Given the description of an element on the screen output the (x, y) to click on. 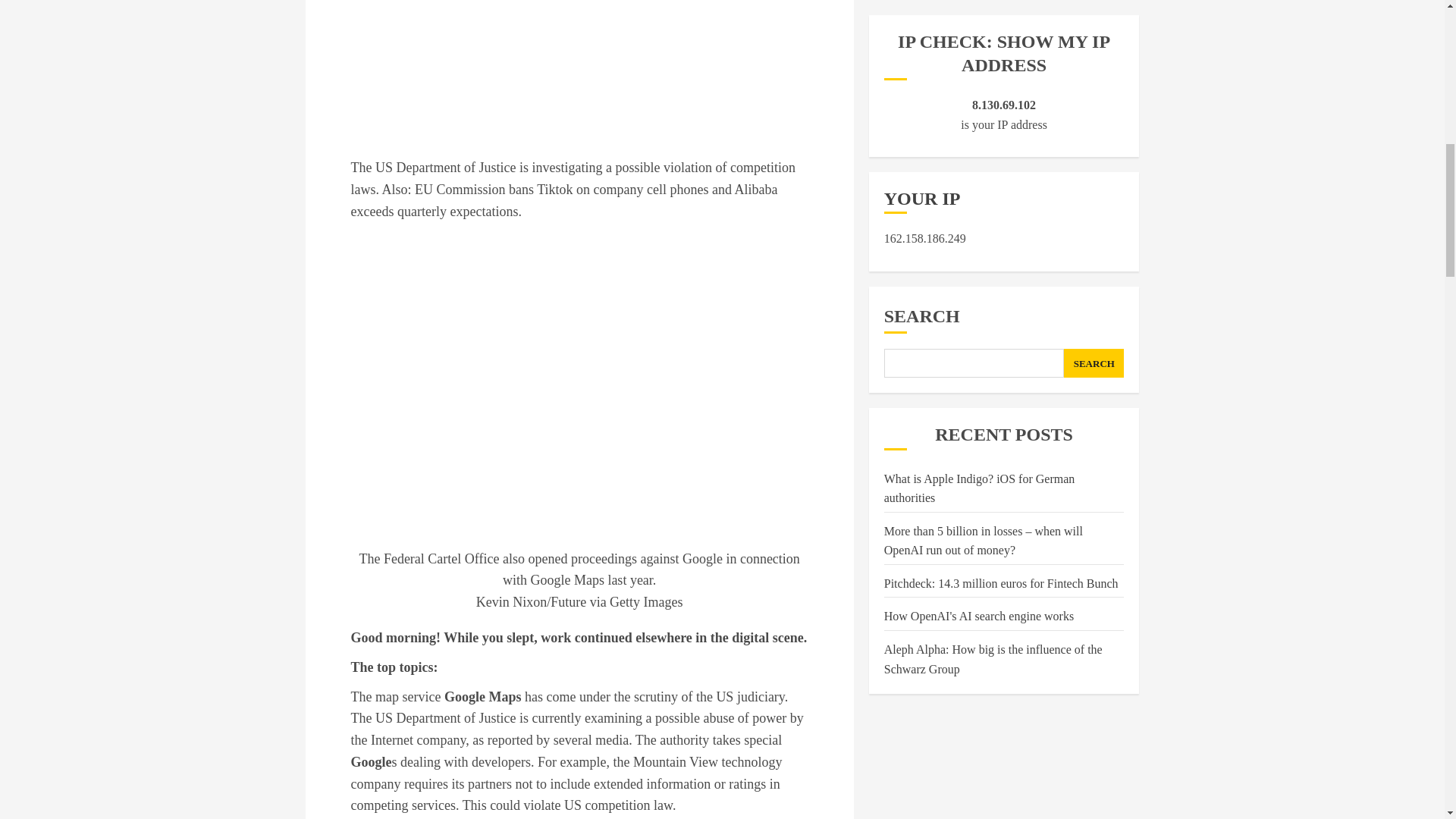
Advertisement (578, 61)
